Given the description of an element on the screen output the (x, y) to click on. 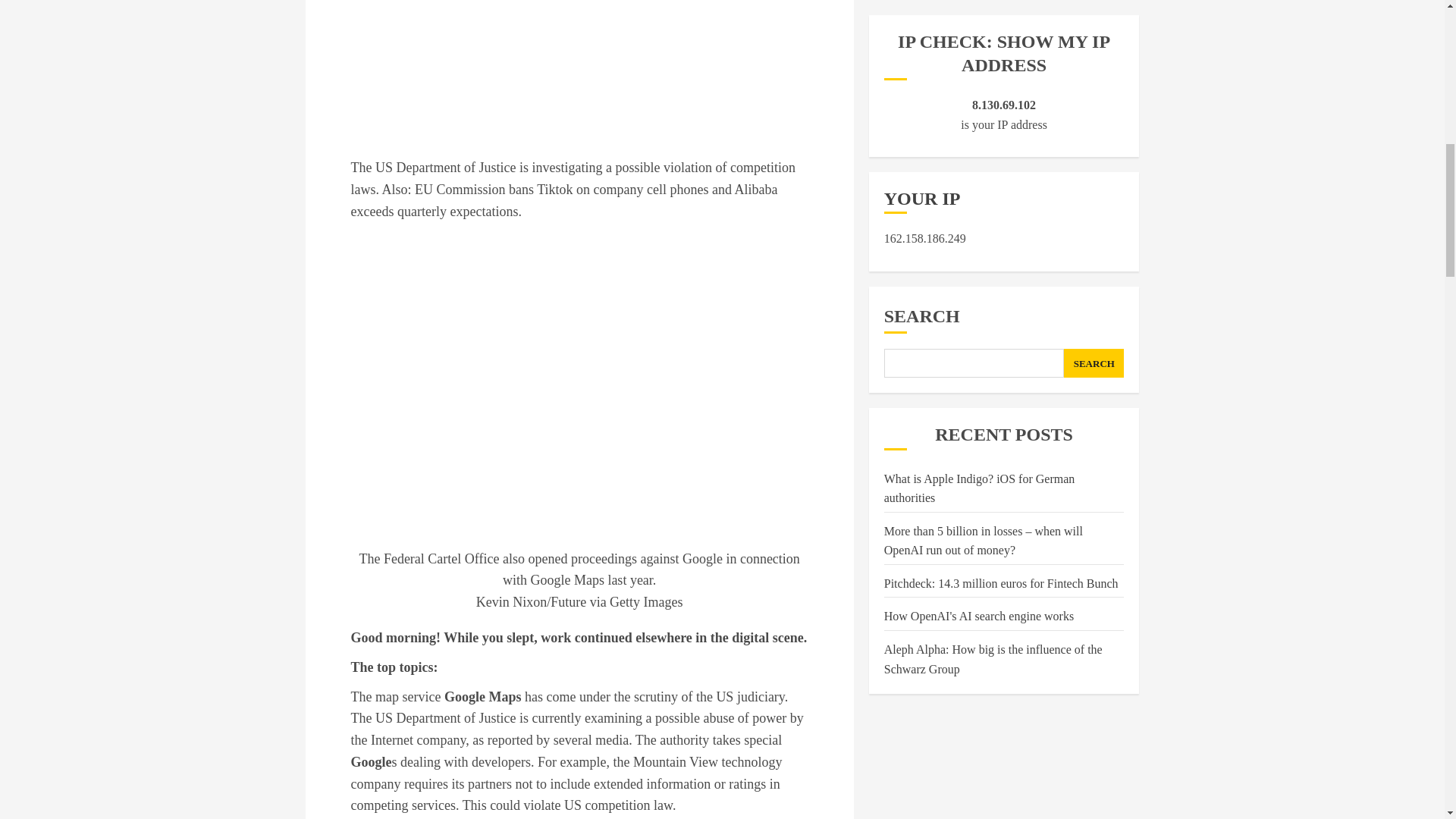
Advertisement (578, 61)
